Given the description of an element on the screen output the (x, y) to click on. 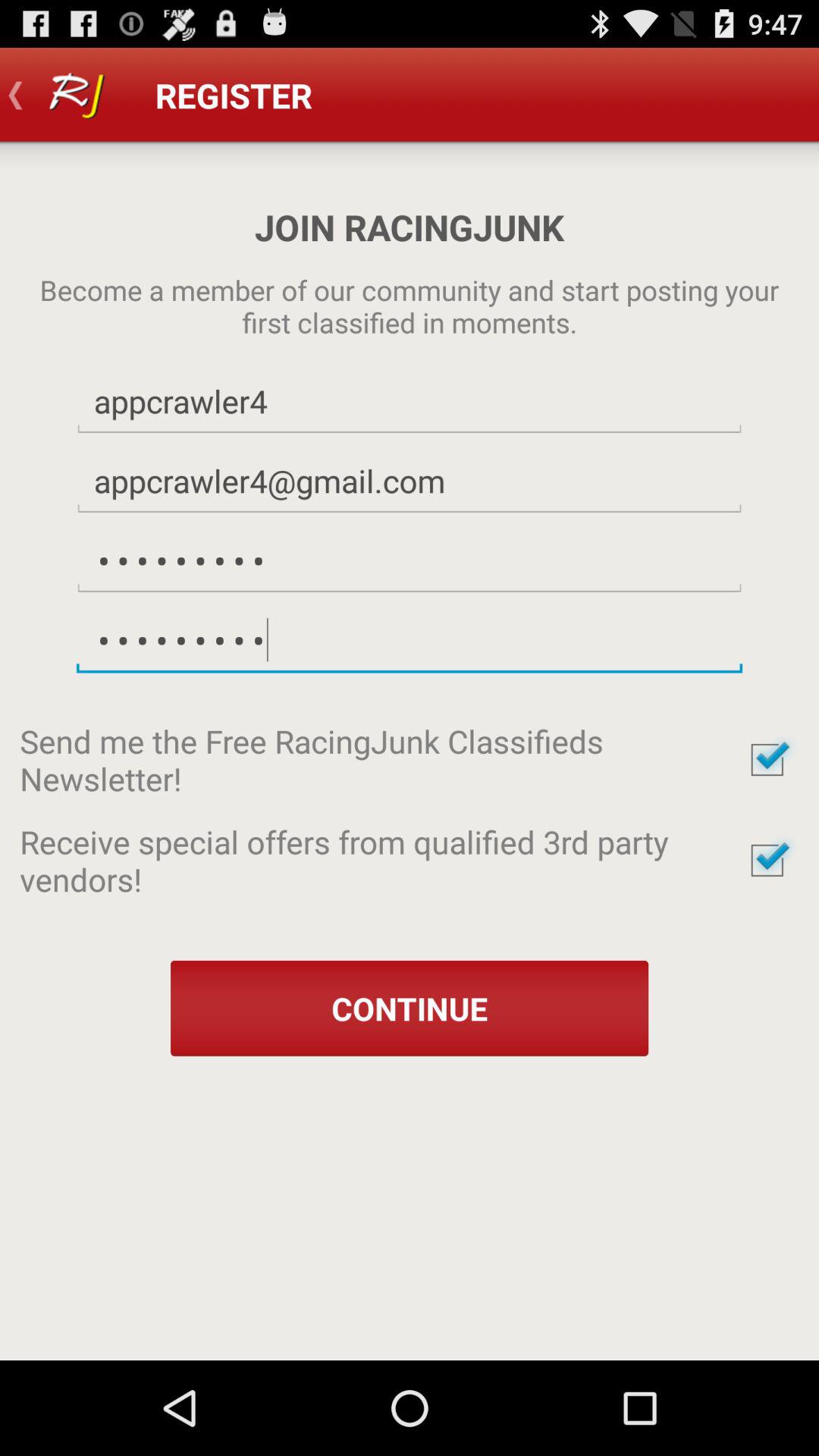
toggle receive newsletter (767, 759)
